Given the description of an element on the screen output the (x, y) to click on. 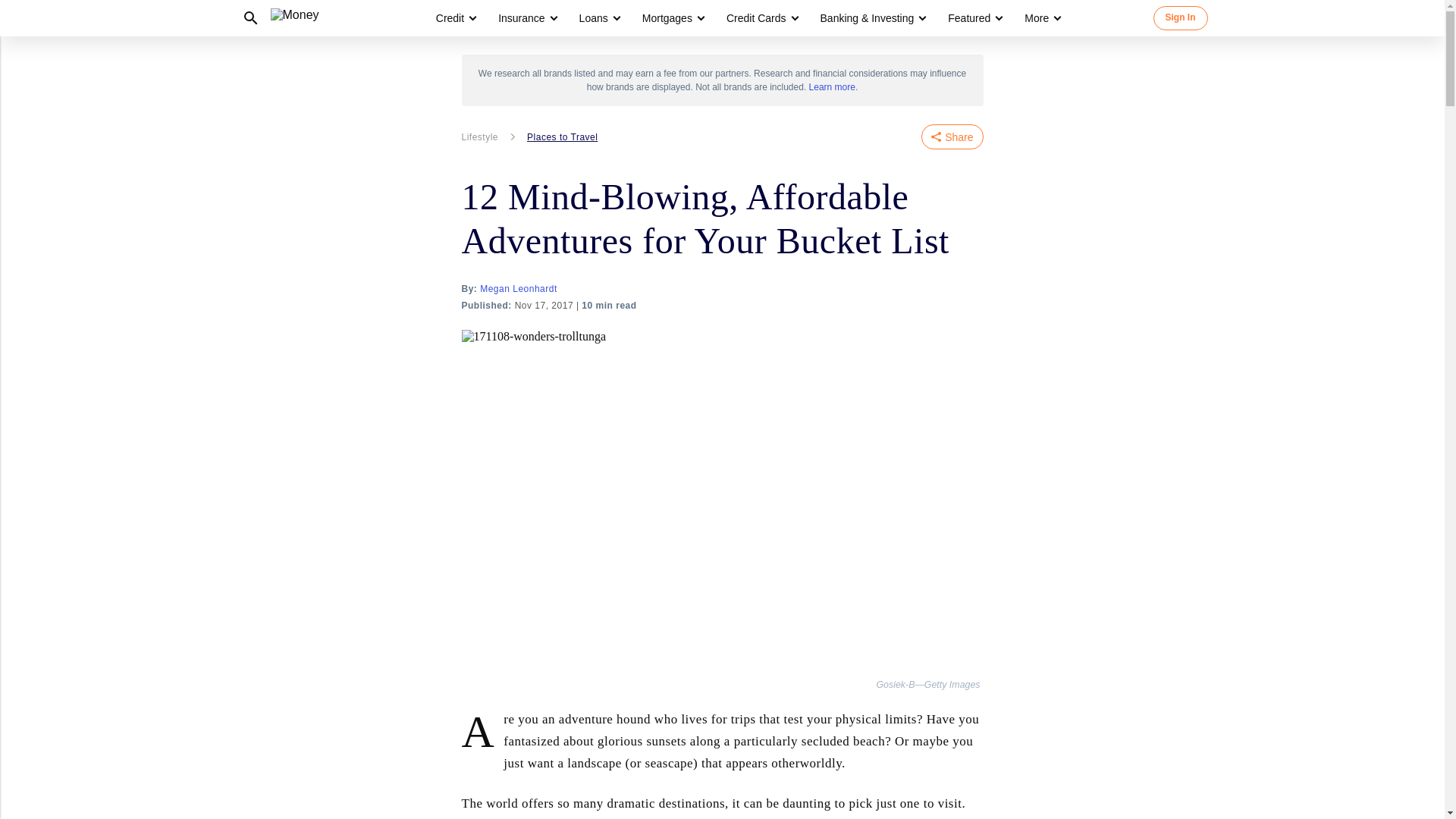
Loans (593, 18)
Mortgages (667, 18)
Mortgages (672, 18)
Insurance (526, 18)
Credit (455, 18)
Loans (598, 18)
Insurance (520, 18)
Credit Cards (761, 18)
Credit (449, 18)
Credit Cards (756, 18)
